Given the description of an element on the screen output the (x, y) to click on. 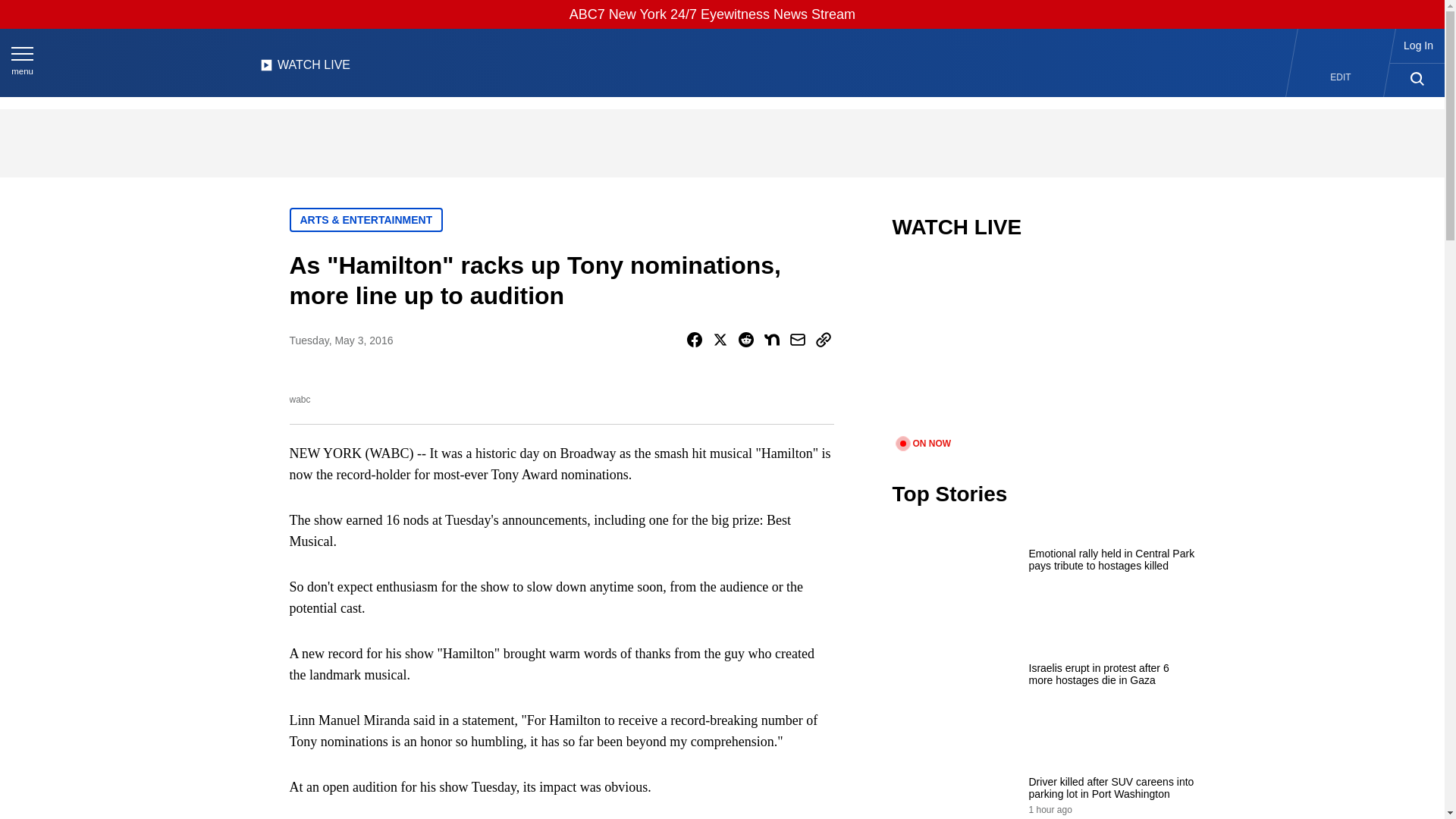
EDIT (1340, 77)
video.title (1043, 347)
WATCH LIVE (305, 69)
